Given the description of an element on the screen output the (x, y) to click on. 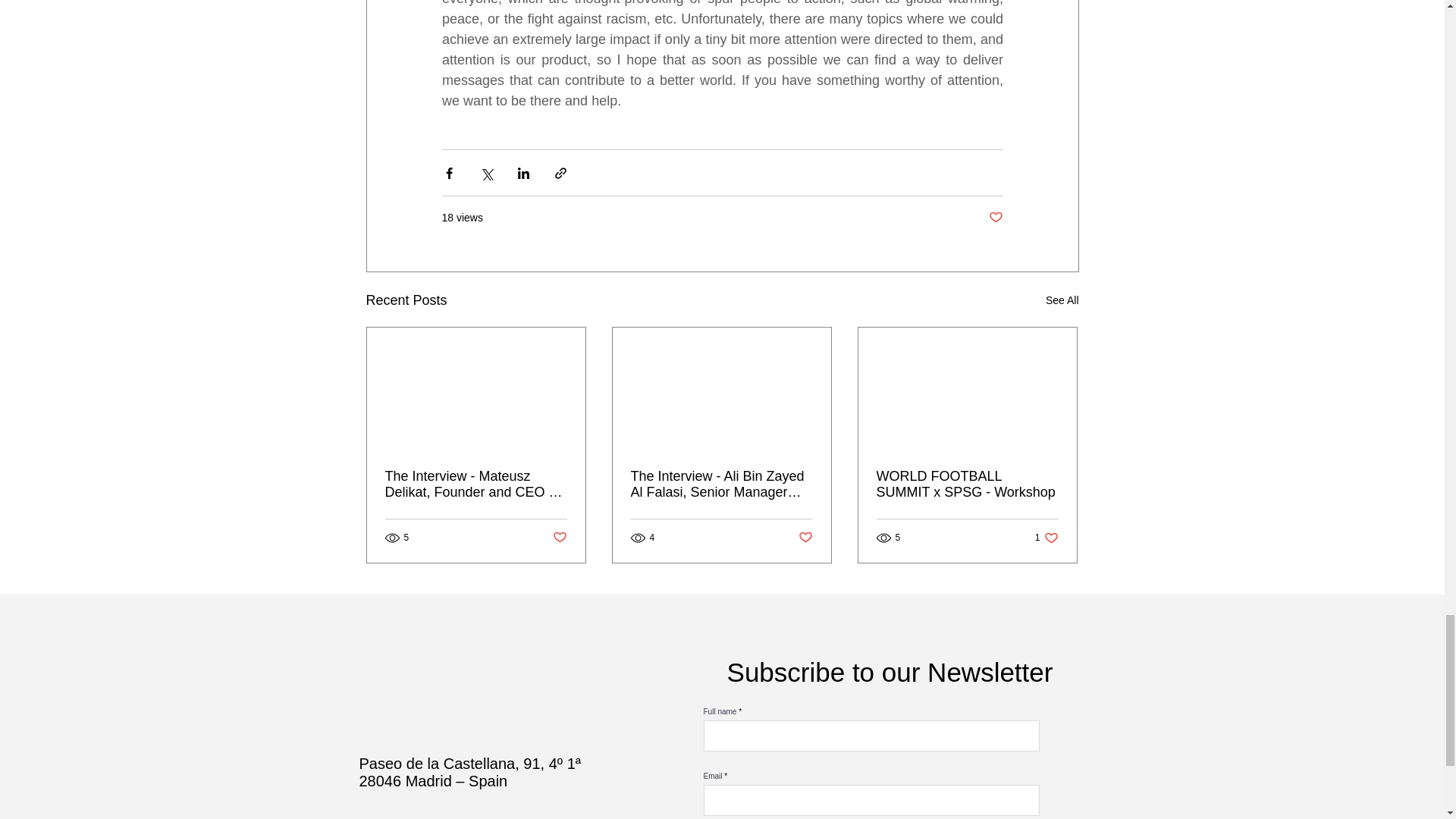
Post not marked as liked (804, 537)
Post not marked as liked (995, 217)
WORLD FOOTBALL SUMMIT x SPSG - Workshop (967, 484)
The Interview - Mateusz Delikat, Founder and CEO at QLAC (1046, 537)
See All (476, 484)
Post not marked as liked (1061, 300)
